Given the description of an element on the screen output the (x, y) to click on. 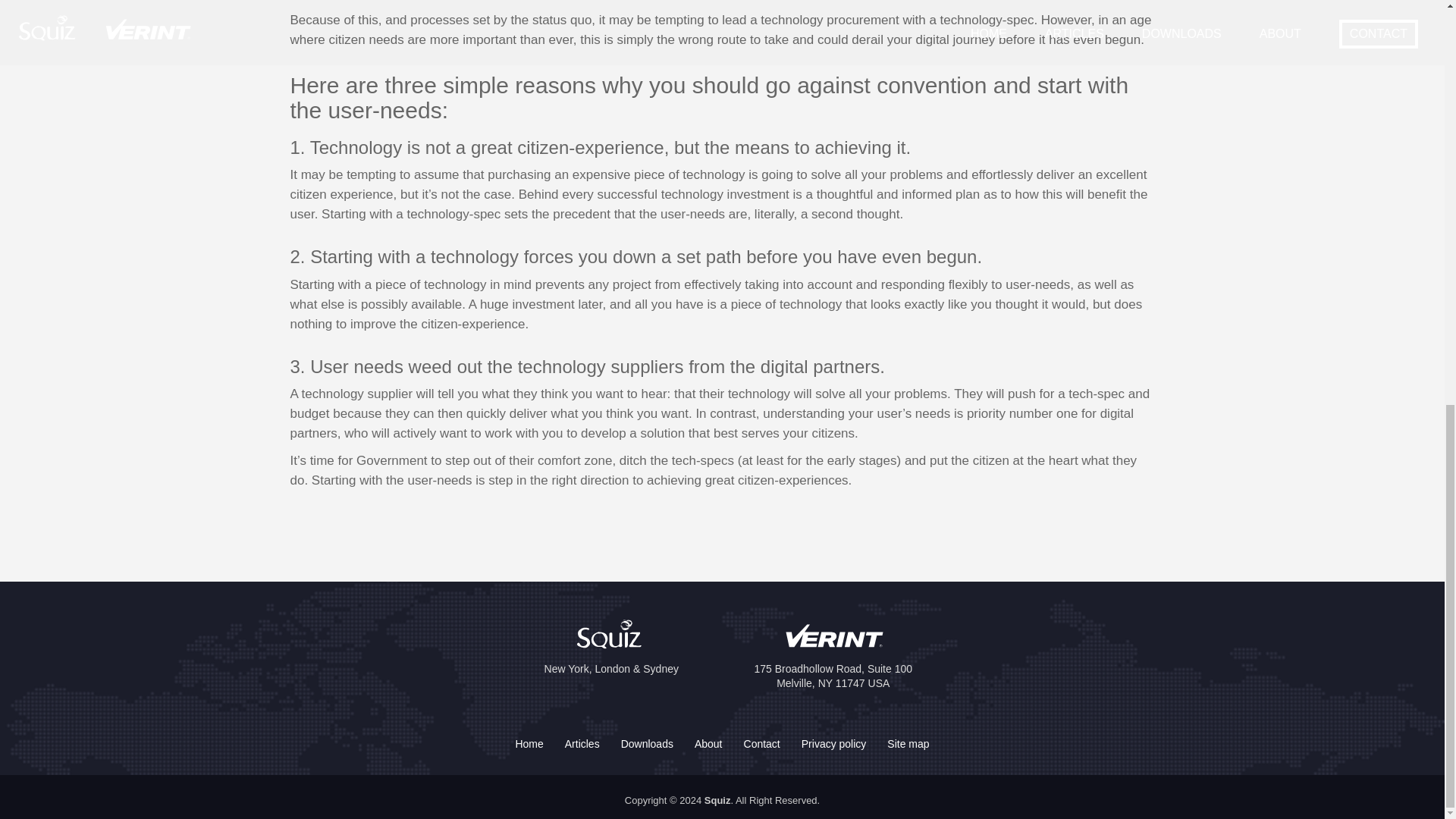
Site map (907, 743)
Articles (582, 743)
Home (528, 743)
Contact (761, 743)
Downloads (647, 743)
About (708, 743)
Privacy policy (833, 743)
